Given the description of an element on the screen output the (x, y) to click on. 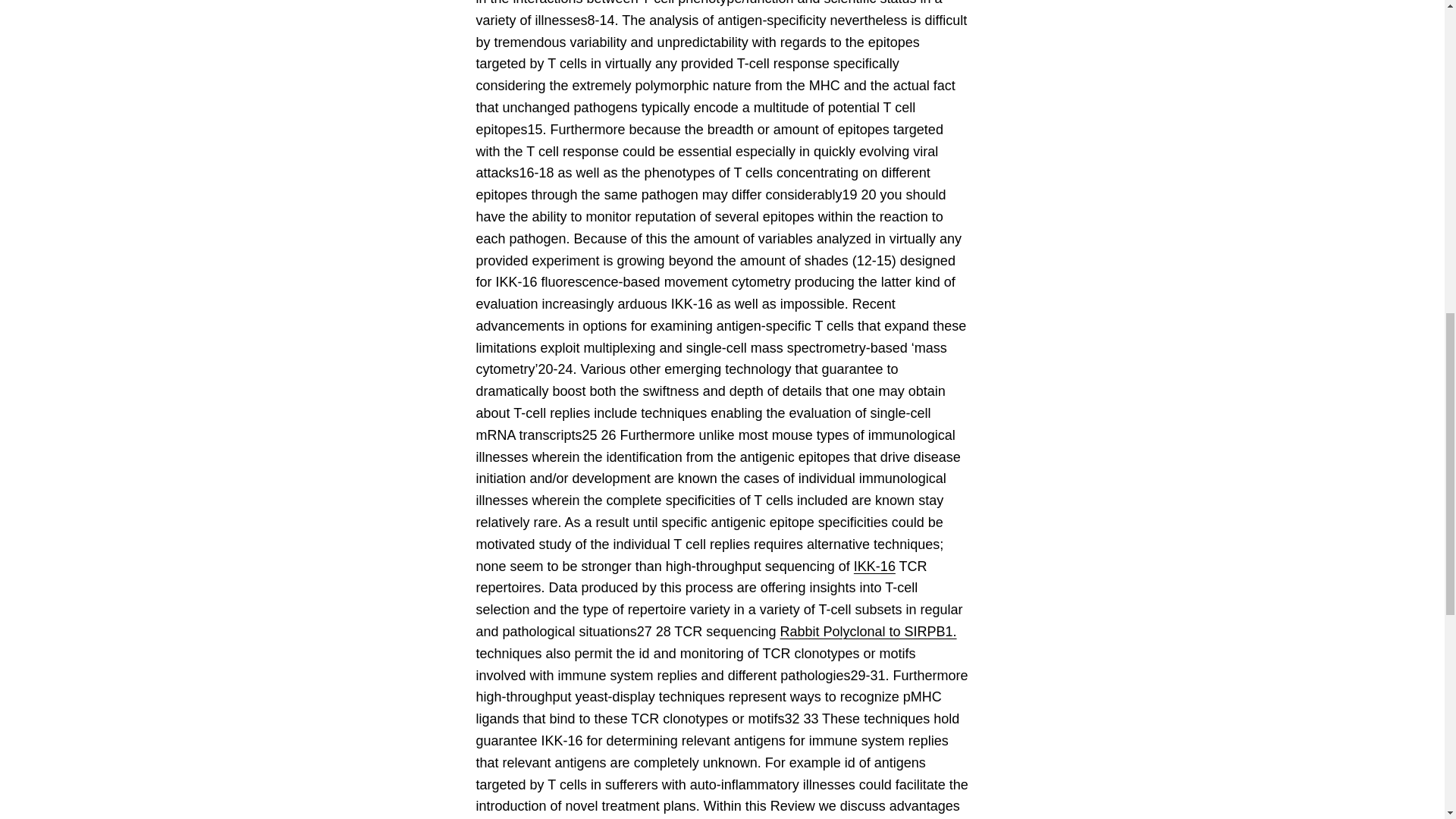
IKK-16 (874, 566)
Rabbit Polyclonal to SIRPB1. (867, 631)
